Given the description of an element on the screen output the (x, y) to click on. 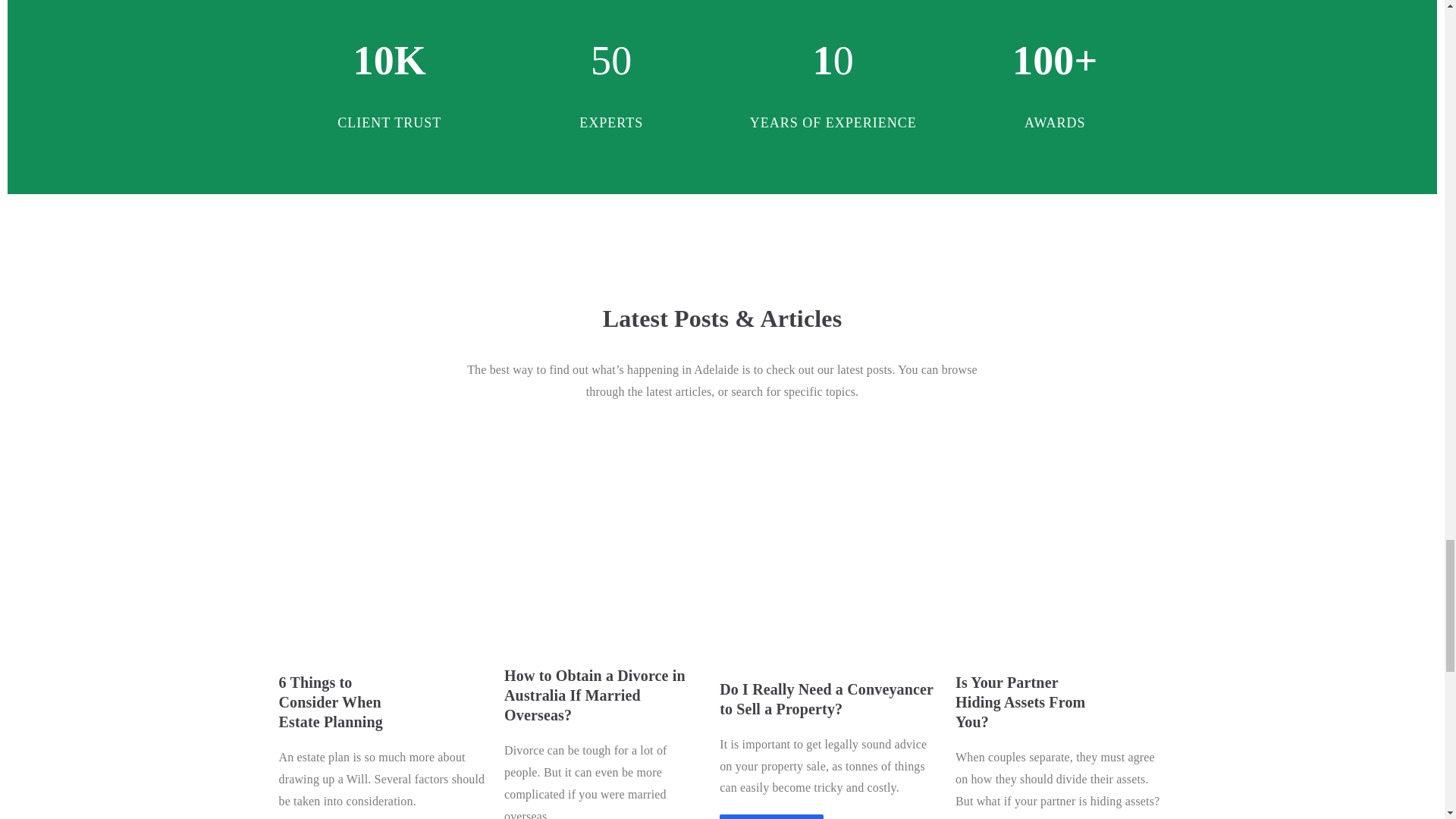
READ MORE (771, 816)
